Given the description of an element on the screen output the (x, y) to click on. 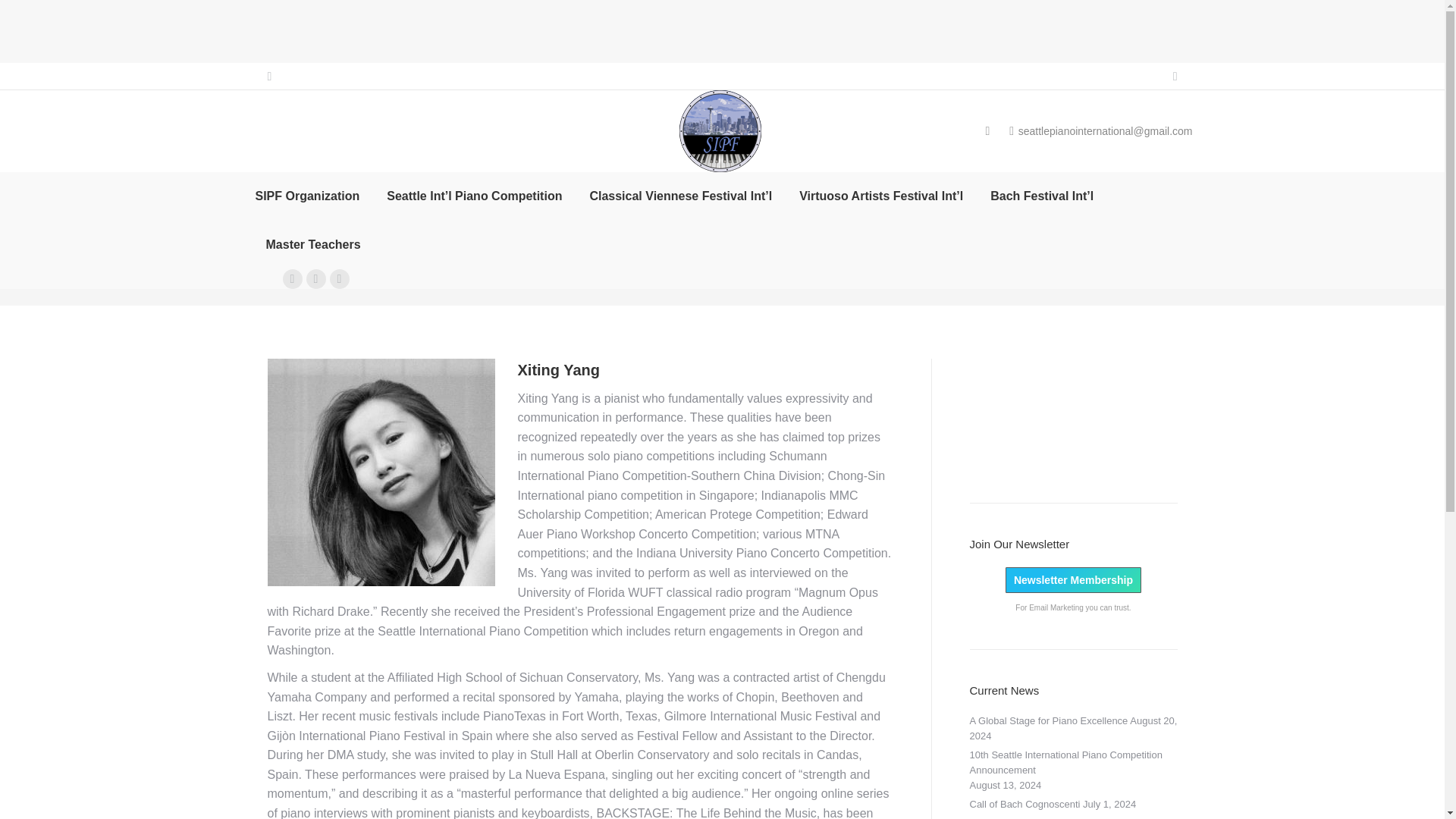
SIPF Organization (306, 196)
Home (1094, 269)
Facebook page opens in new window (291, 279)
Instagram page opens in new window (339, 279)
Go! (24, 16)
YouTube page opens in new window (315, 279)
